Given the description of an element on the screen output the (x, y) to click on. 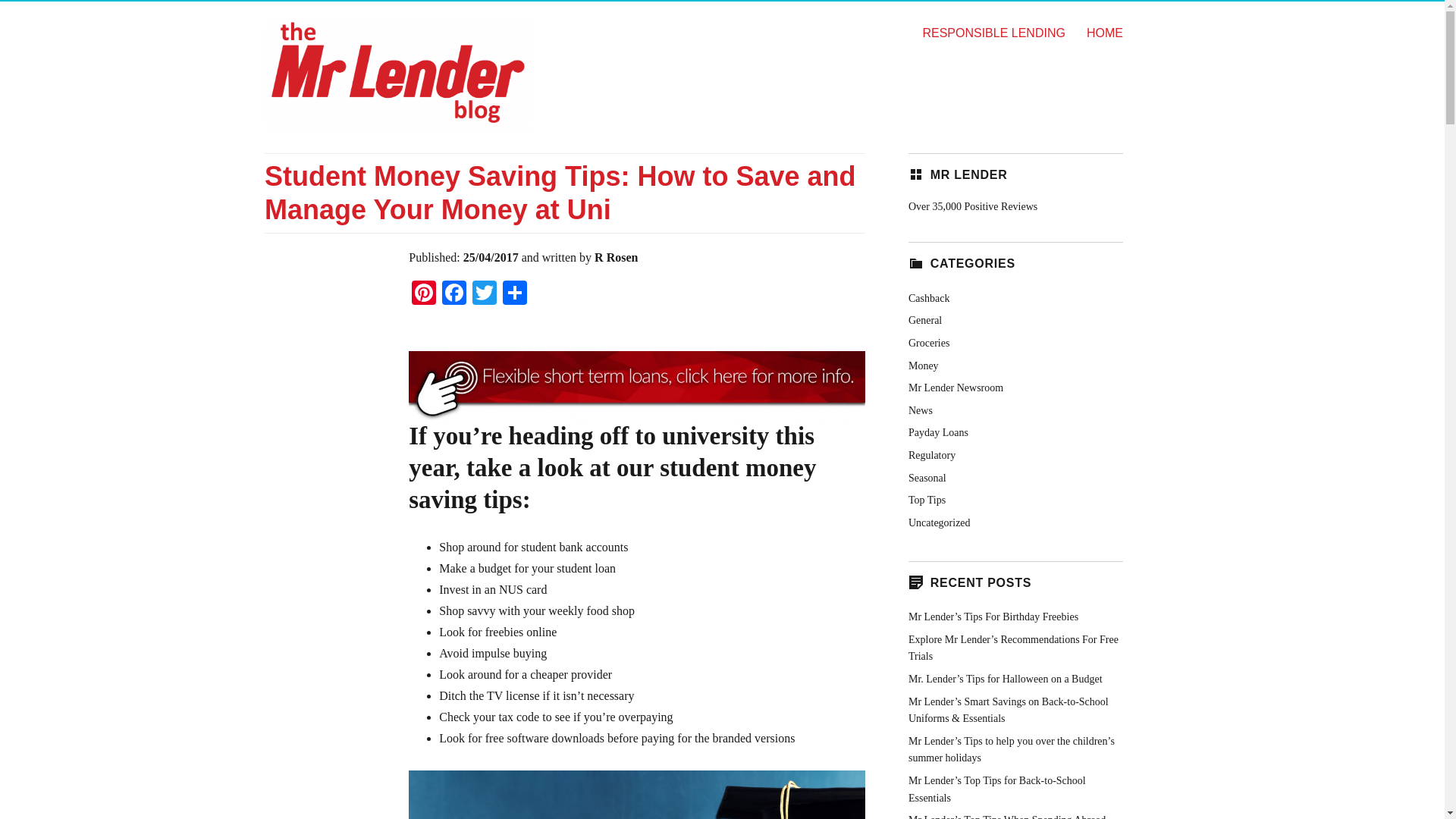
Twitter (483, 294)
Facebook (453, 294)
General (925, 319)
Twitter (483, 294)
Pinterest (424, 294)
Cashback (928, 297)
Pinterest (424, 294)
Over 35,000 Positive Reviews (972, 206)
Facebook (453, 294)
HOME (1104, 32)
